Given the description of an element on the screen output the (x, y) to click on. 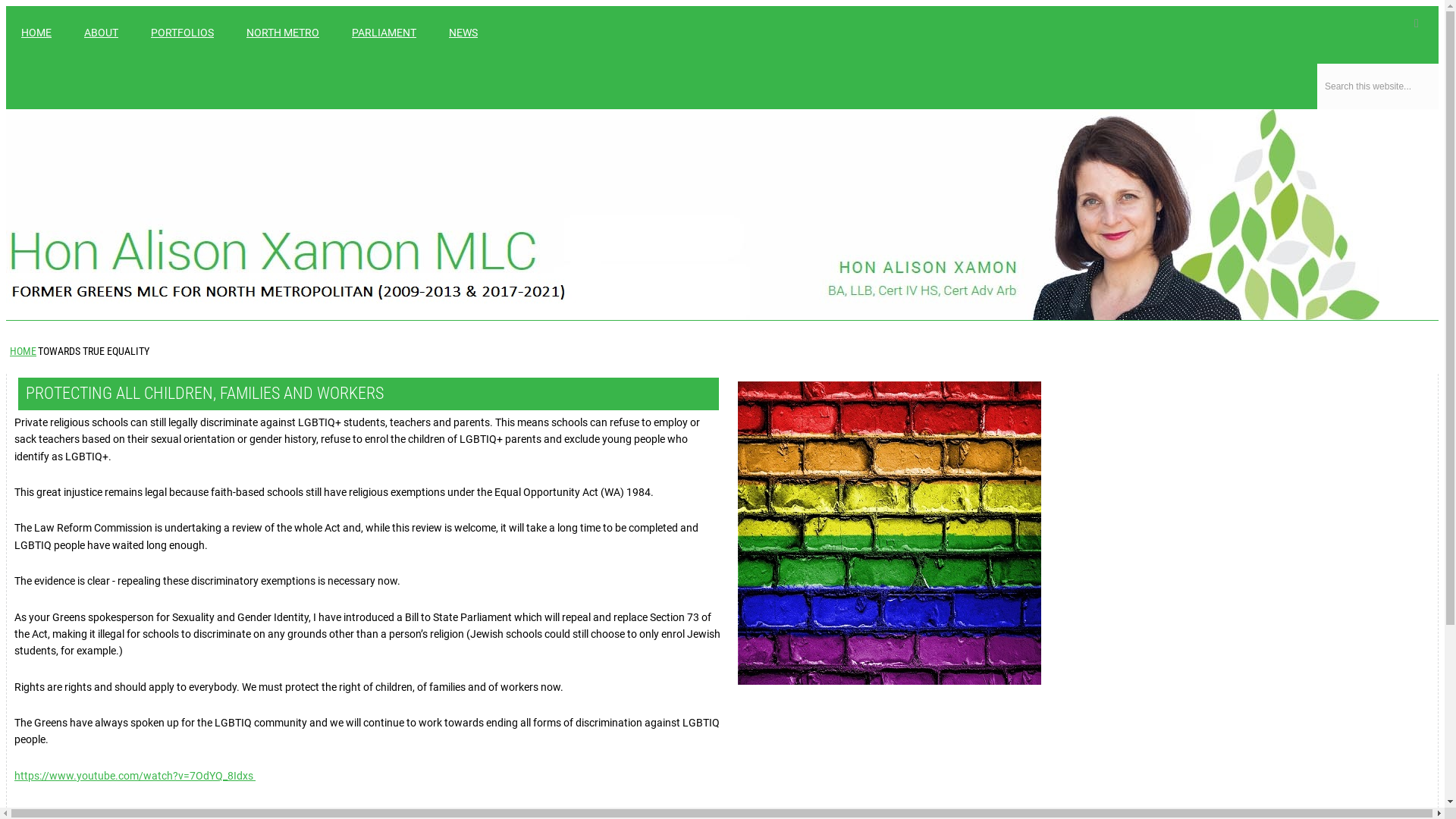
HOME Element type: text (36, 32)
PARLIAMENT Element type: text (383, 32)
PORTFOLIOS Element type: text (182, 32)
HOME Element type: text (22, 351)
ABOUT Element type: text (101, 32)
NEWS Element type: text (462, 32)
Skip to main content Element type: text (54, 6)
https://www.youtube.com/watch?v=7OdYQ_8Idxs  Element type: text (134, 775)
NORTH METRO Element type: text (282, 32)
